Given the description of an element on the screen output the (x, y) to click on. 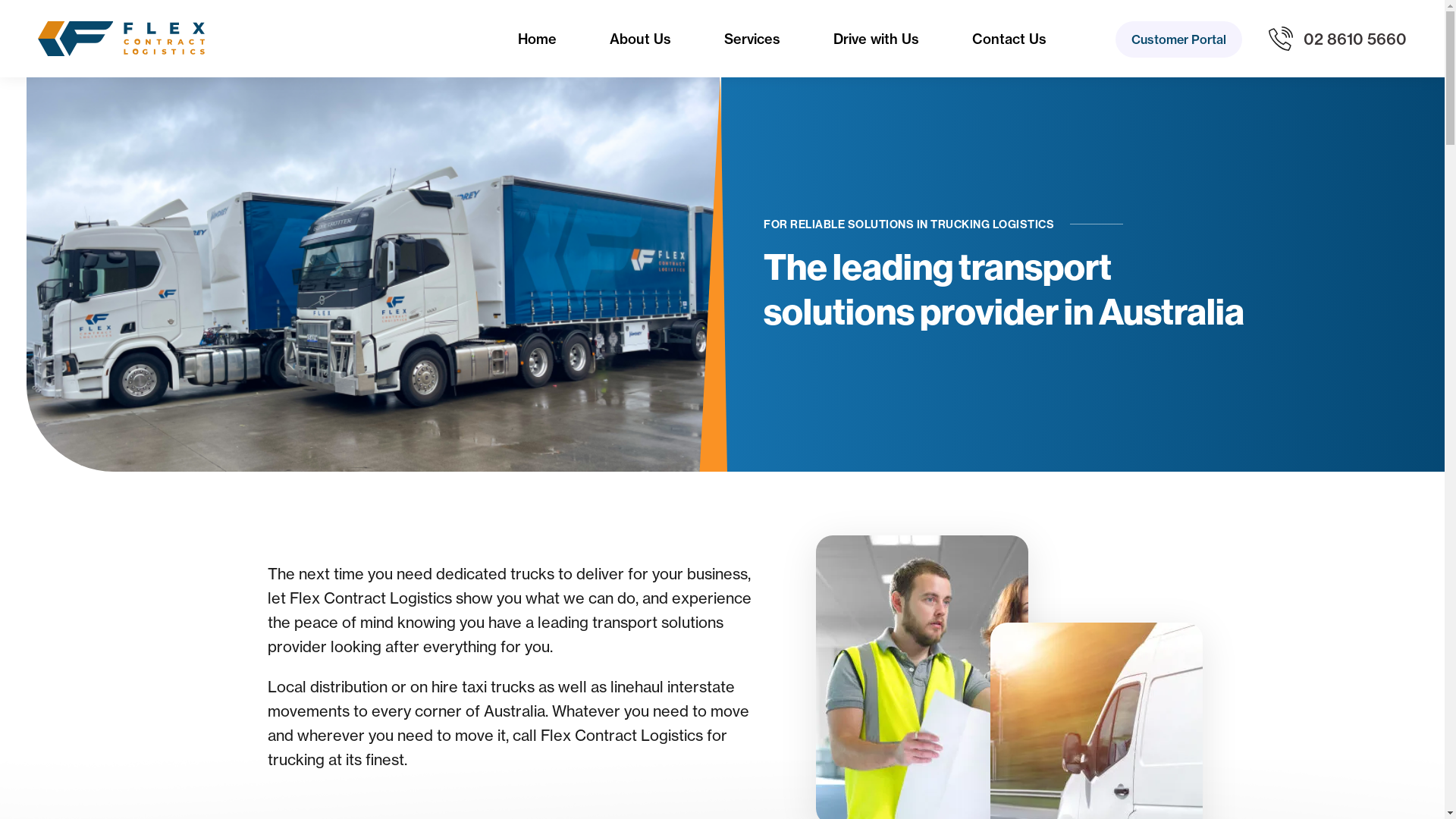
Drive with Us Element type: text (876, 39)
Home Element type: text (536, 39)
About Us Element type: text (640, 39)
Services Element type: text (752, 39)
Contact Us Element type: text (1009, 39)
Customer Portal Element type: text (1178, 39)
